Given the description of an element on the screen output the (x, y) to click on. 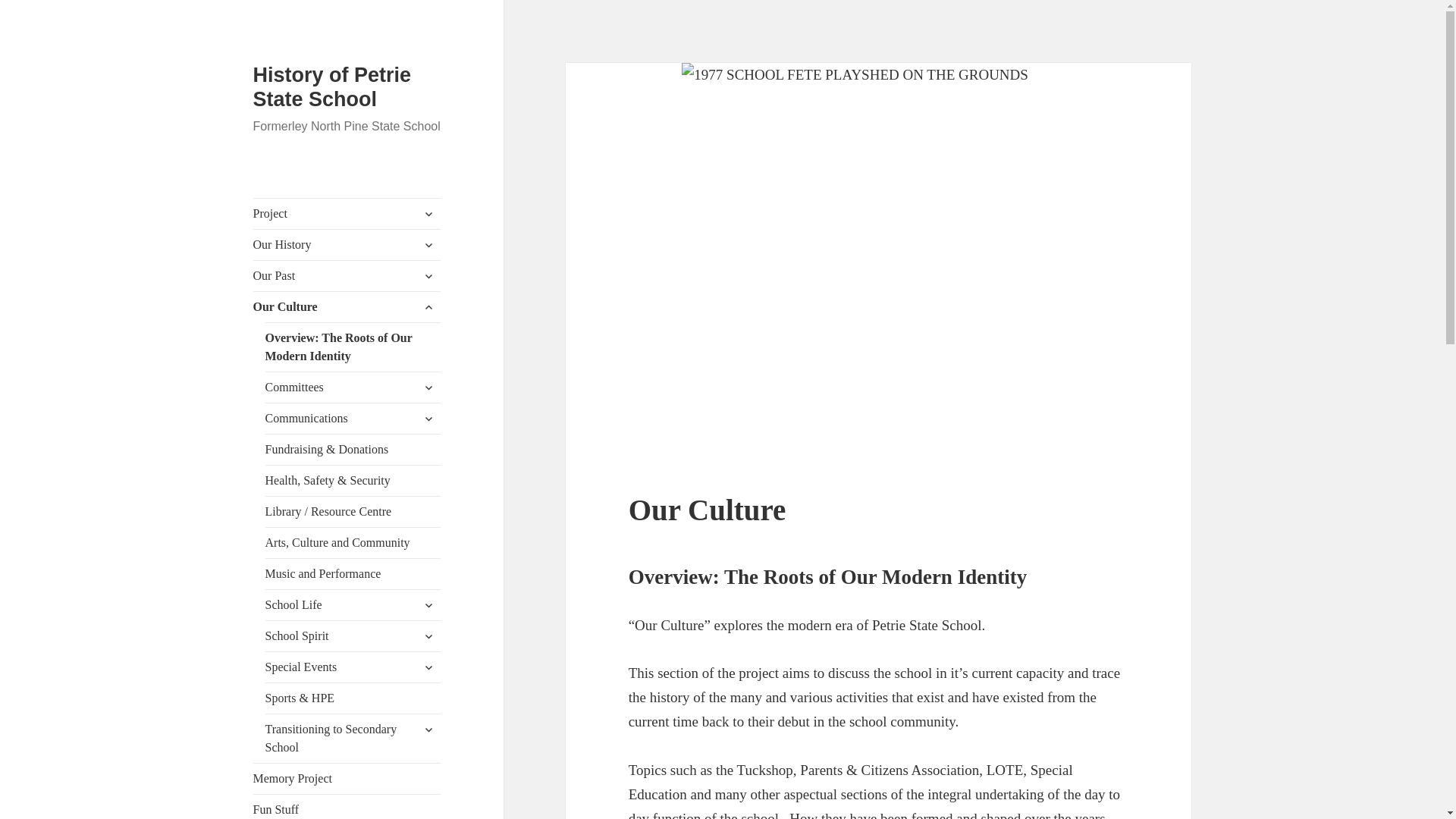
expand child menu (428, 275)
Our Past (347, 276)
Our History (347, 245)
expand child menu (428, 244)
expand child menu (428, 213)
Project (347, 214)
History of Petrie State School (332, 86)
